Given the description of an element on the screen output the (x, y) to click on. 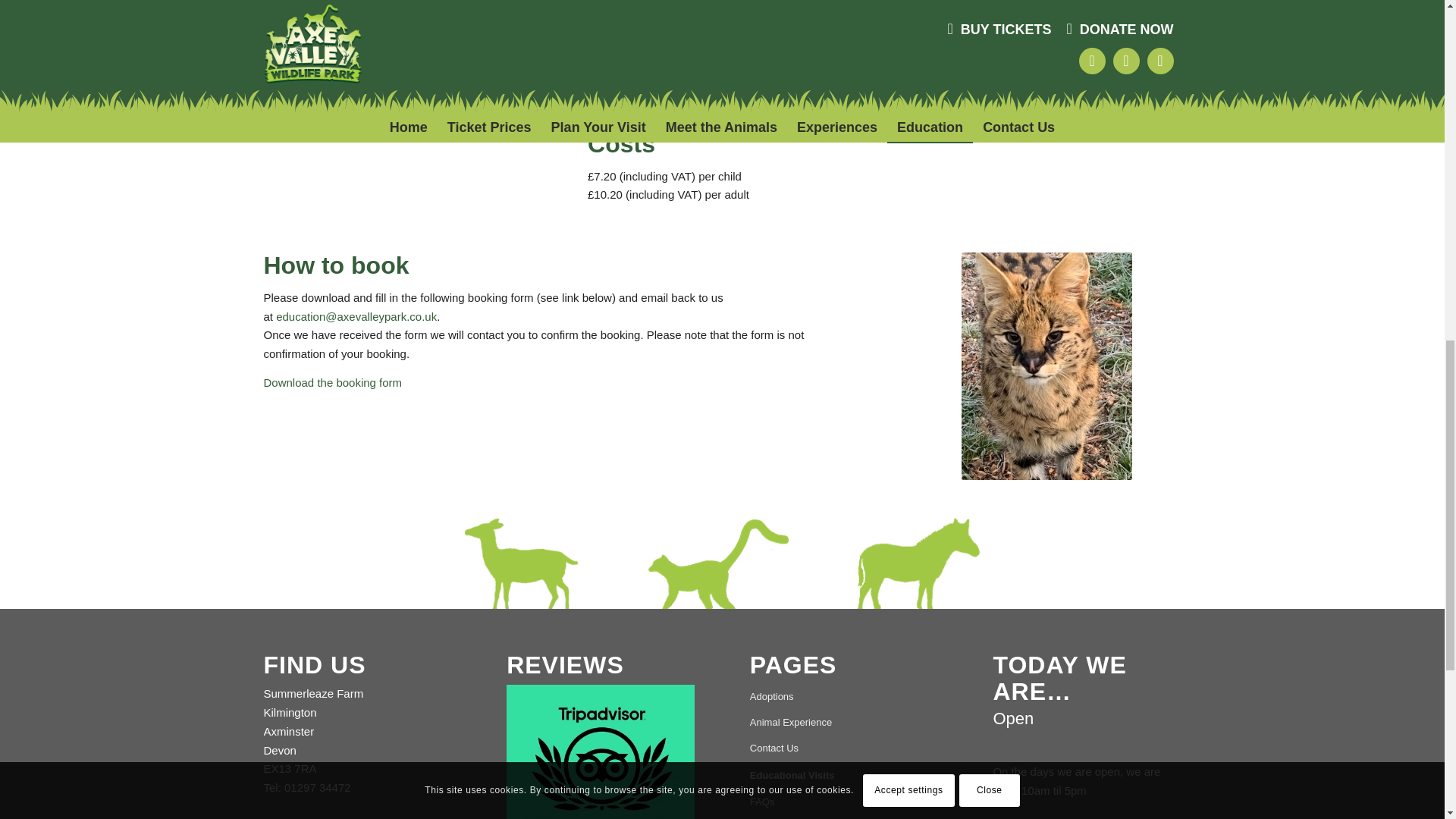
Animal Experience (843, 723)
Contact Us (843, 749)
lynx (397, 29)
Reviews (600, 751)
Download the booking form (333, 382)
Adoptions (843, 697)
Educational Visits (843, 776)
